Given the description of an element on the screen output the (x, y) to click on. 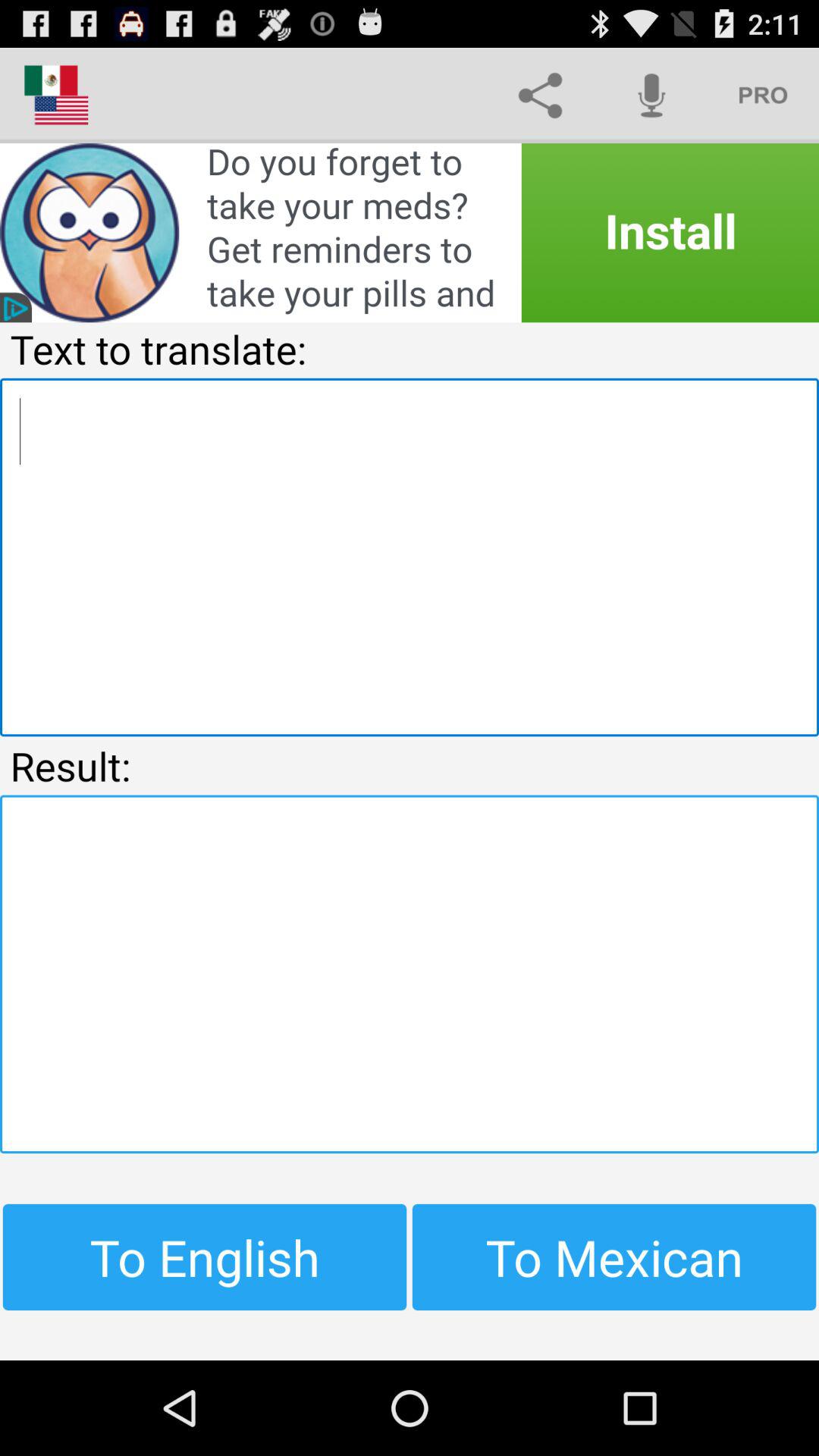
open the advertisement (409, 232)
